Given the description of an element on the screen output the (x, y) to click on. 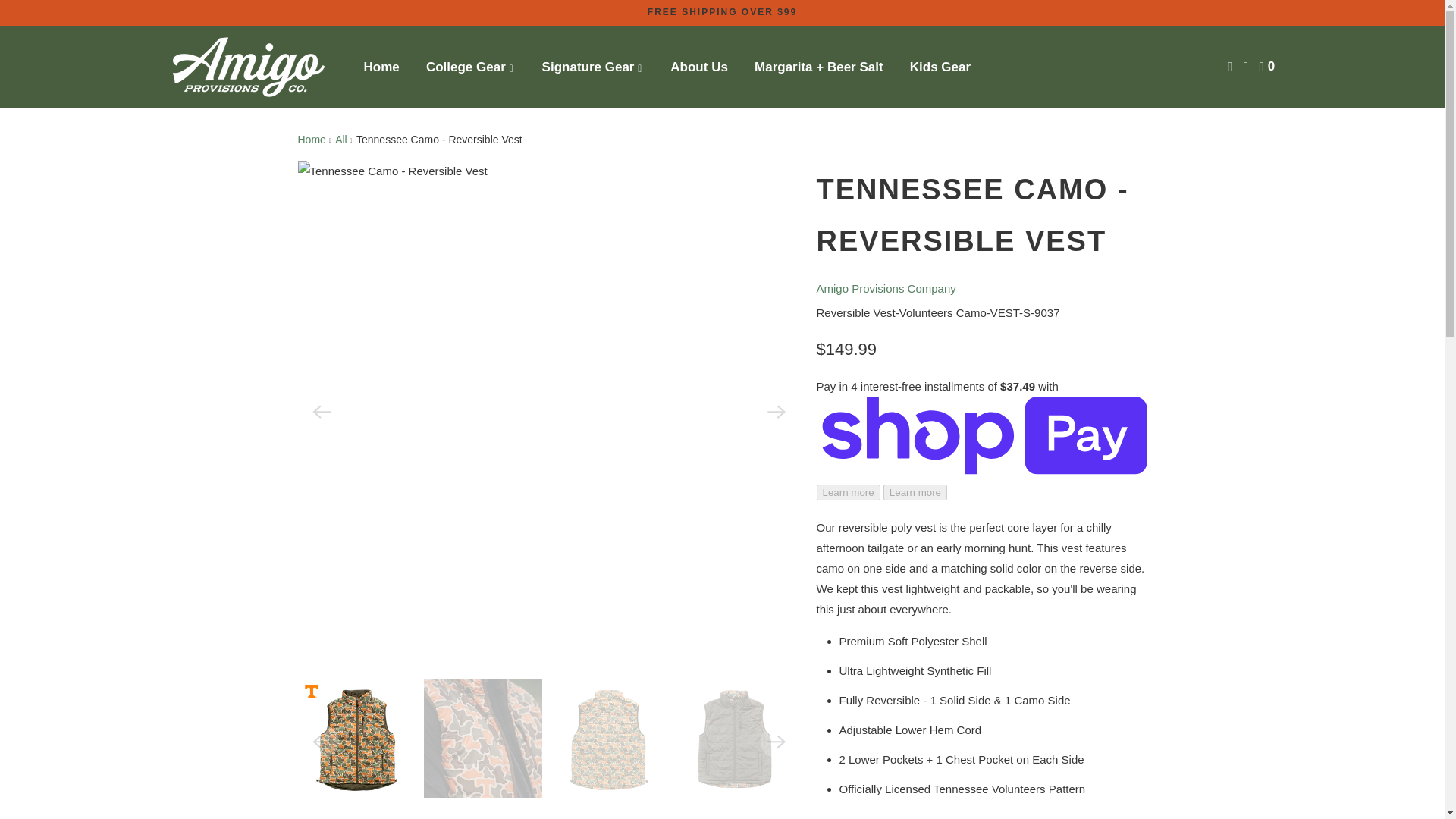
Amigo Provisions Company (885, 287)
Home (382, 67)
Amigo Provisions Company (247, 66)
Amigo Provisions Company (310, 139)
All (340, 139)
